Given the description of an element on the screen output the (x, y) to click on. 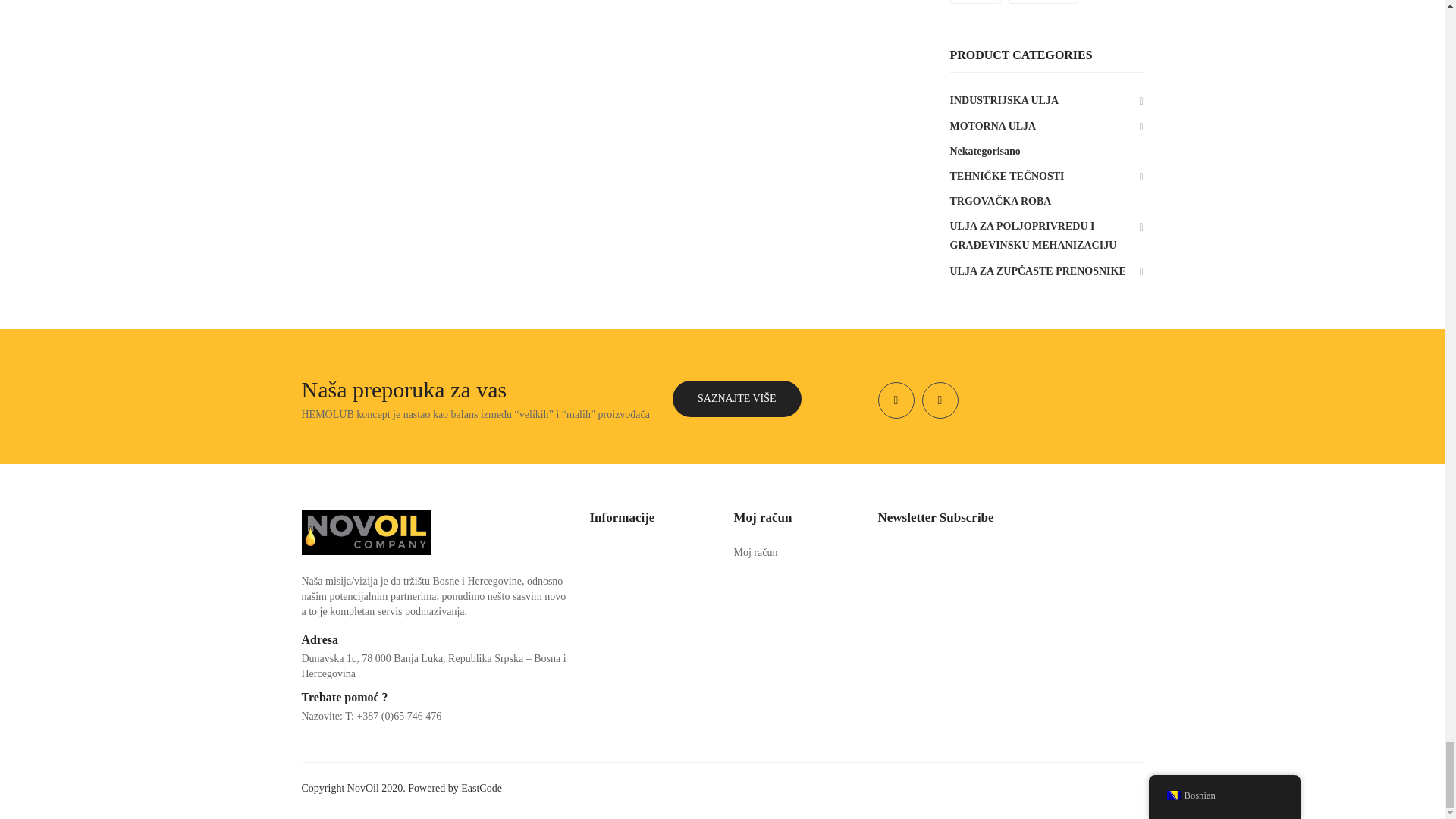
NovOil (365, 531)
Instagram (939, 400)
Facebook (895, 400)
